Given the description of an element on the screen output the (x, y) to click on. 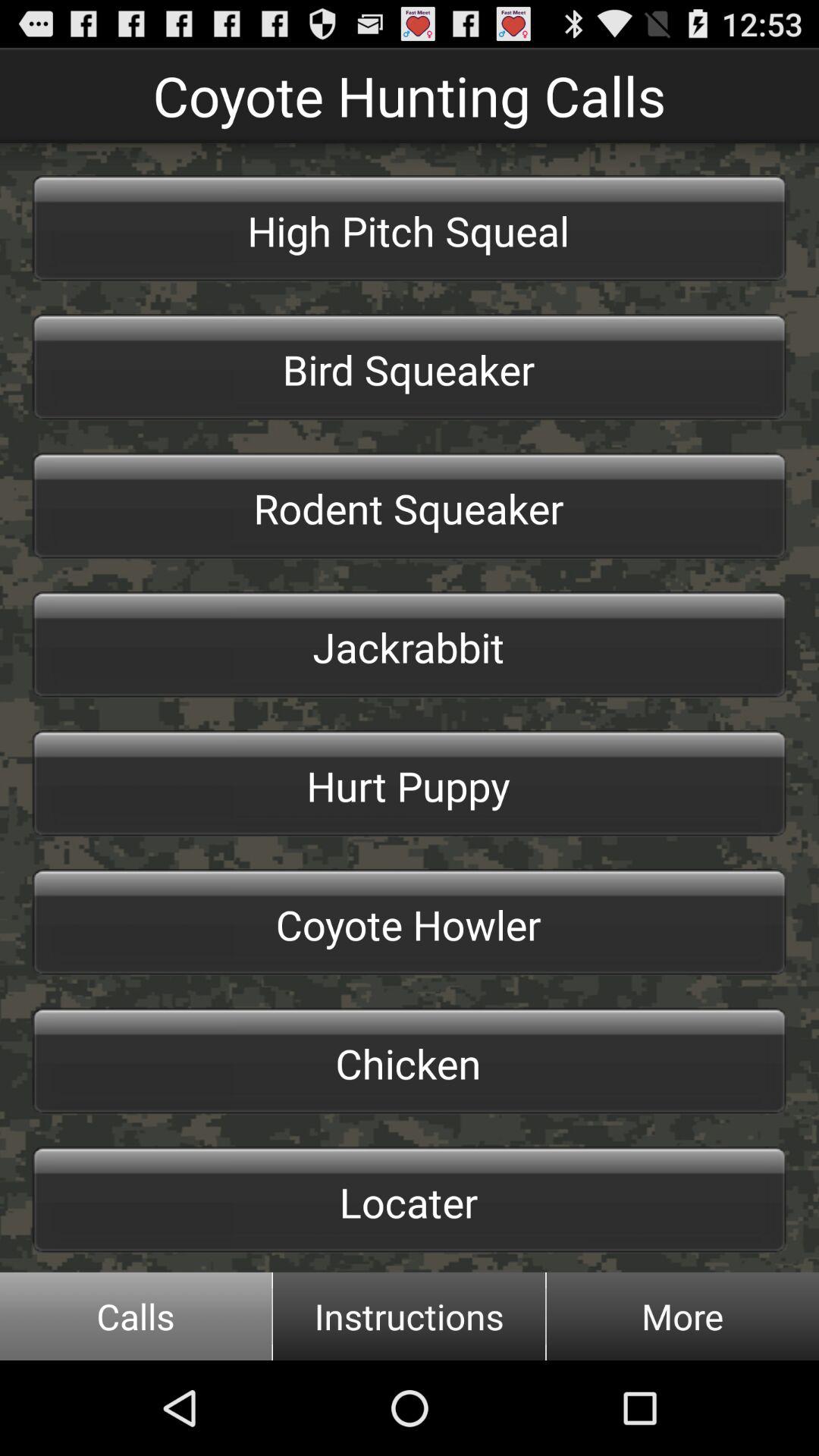
select app above the calls (409, 1199)
